Given the description of an element on the screen output the (x, y) to click on. 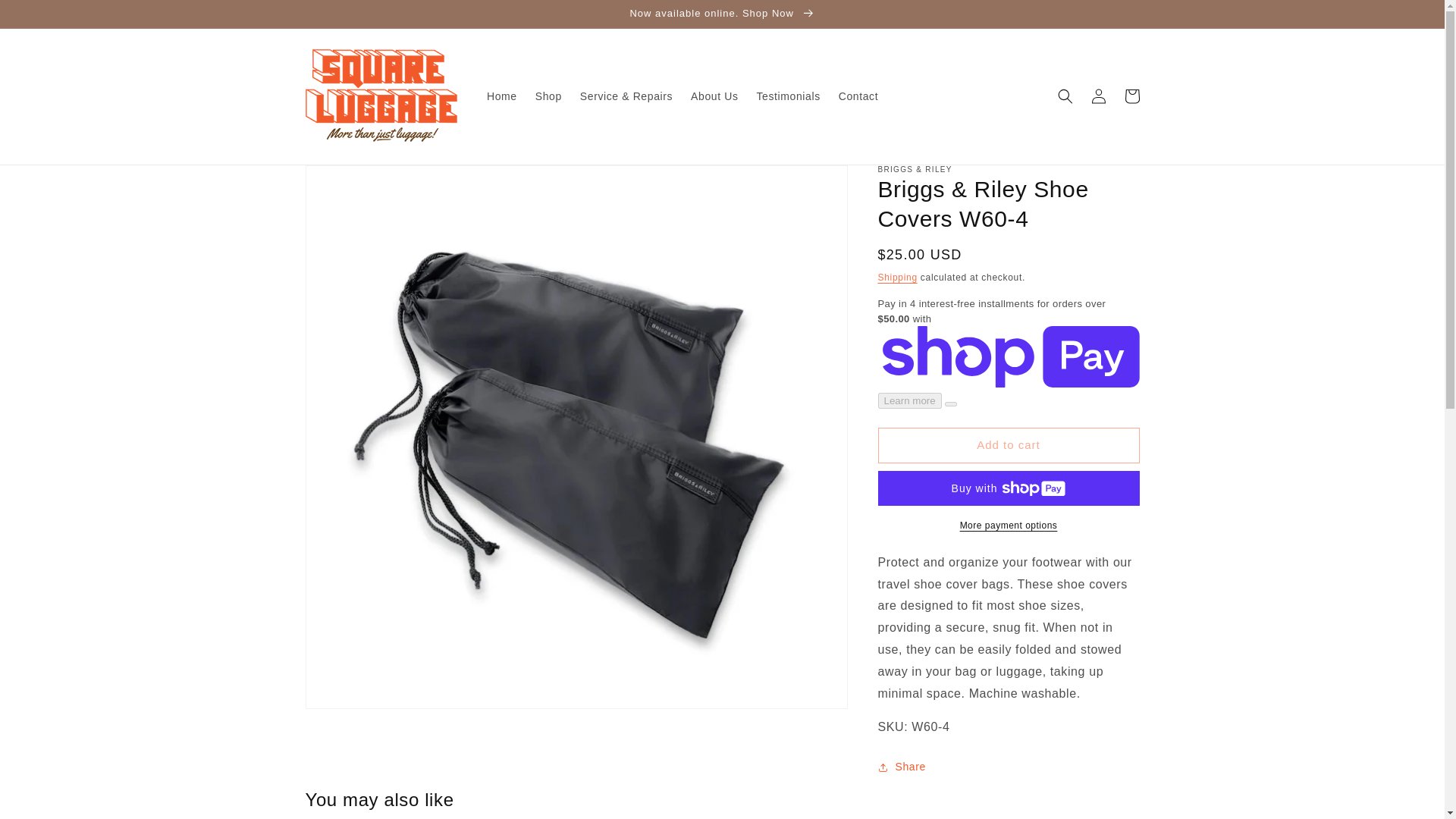
Skip to content (45, 17)
Shop (547, 96)
Home (501, 96)
Add to cart (1008, 445)
More payment options (1008, 525)
Contact (857, 96)
Cart (1131, 96)
About Us (713, 96)
Testimonials (788, 96)
Shipping (897, 276)
Log in (1098, 96)
Skip to product information (350, 181)
